Given the description of an element on the screen output the (x, y) to click on. 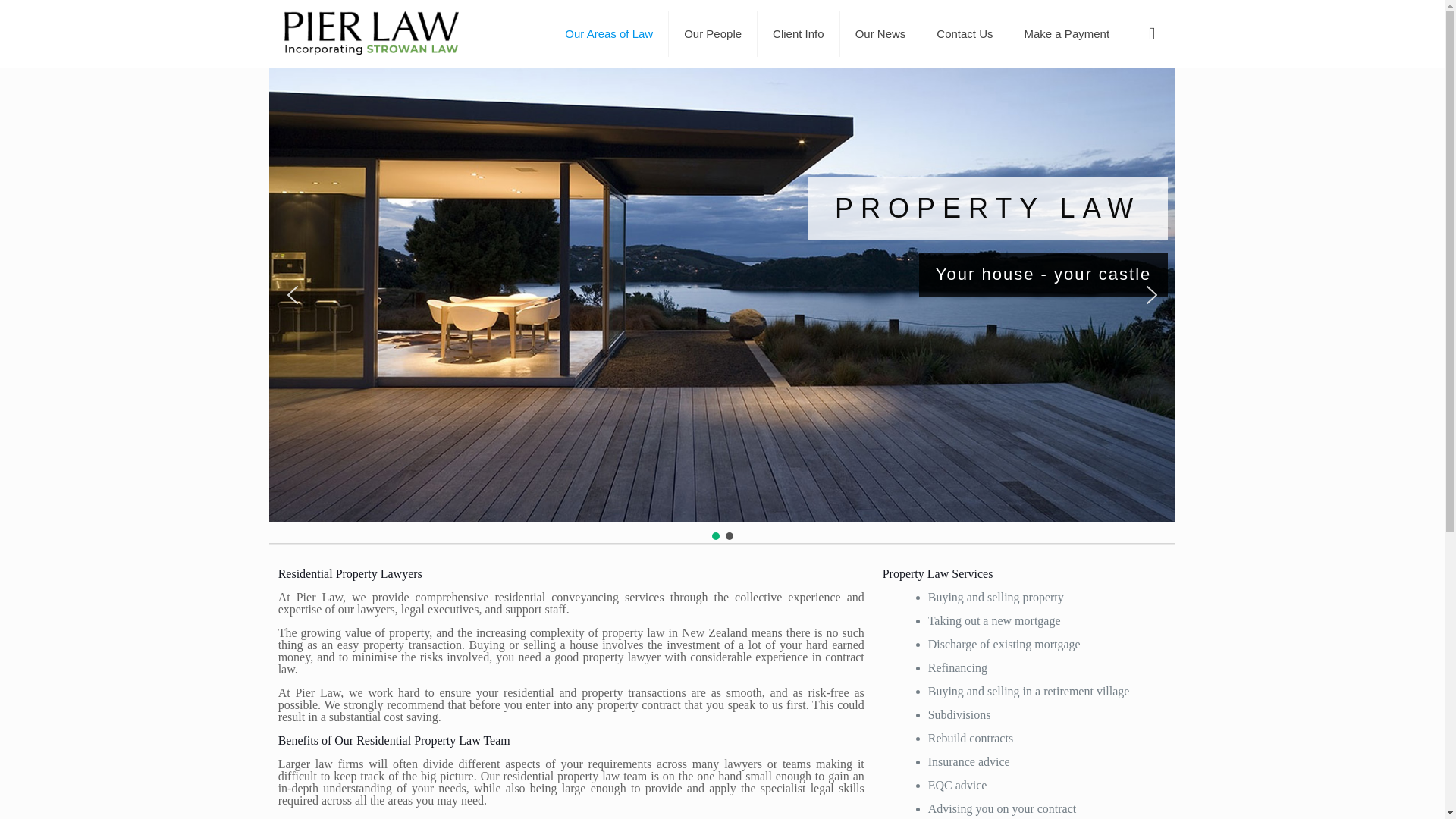
Our Areas of Law (609, 33)
Legal Expertise (609, 33)
Pier Law (371, 33)
Client Info (798, 33)
Our People (712, 33)
Our News (880, 33)
